Given the description of an element on the screen output the (x, y) to click on. 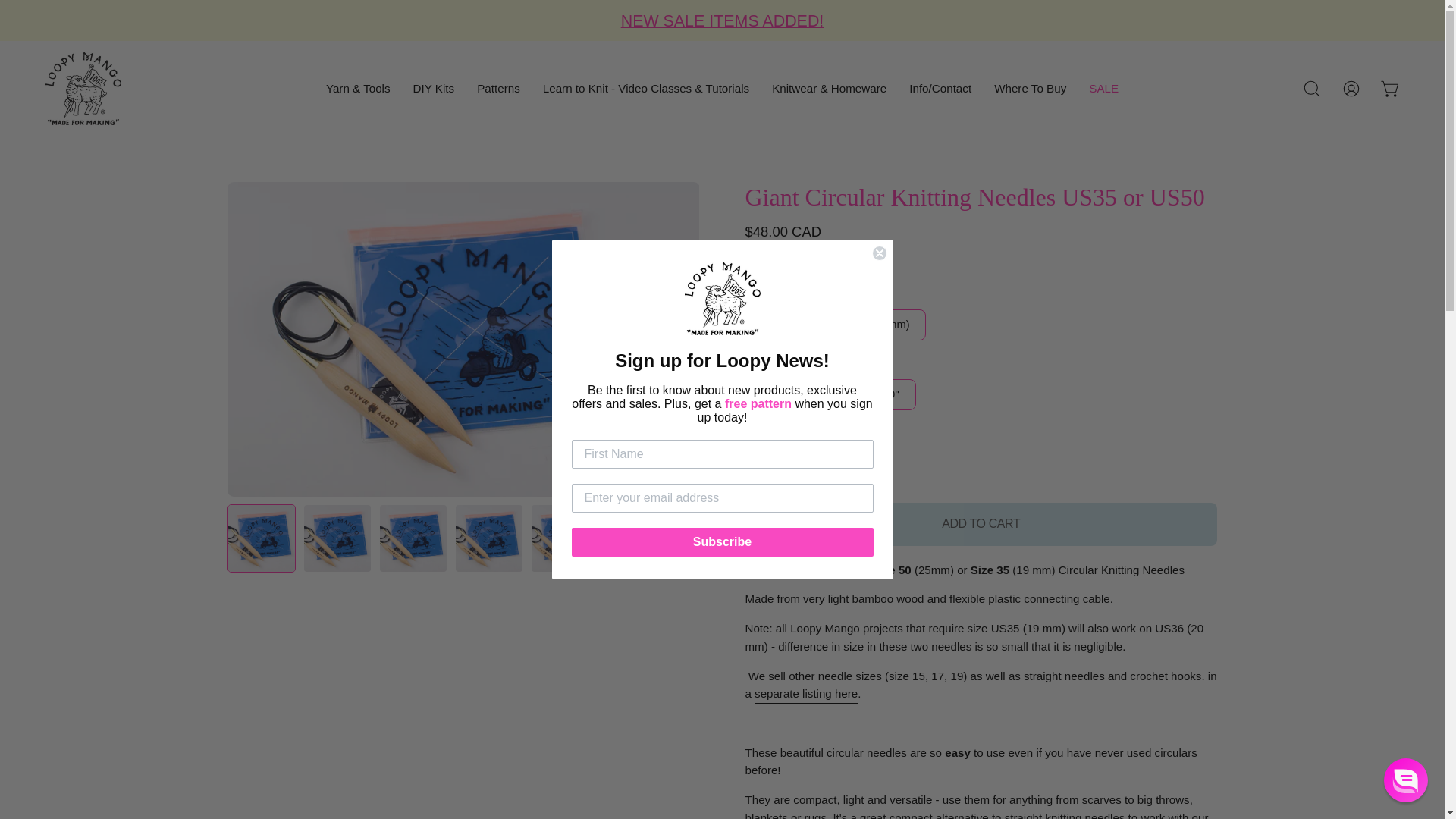
Open search bar (1311, 88)
NEW SALE ITEMS ADDED! (722, 21)
